Given the description of an element on the screen output the (x, y) to click on. 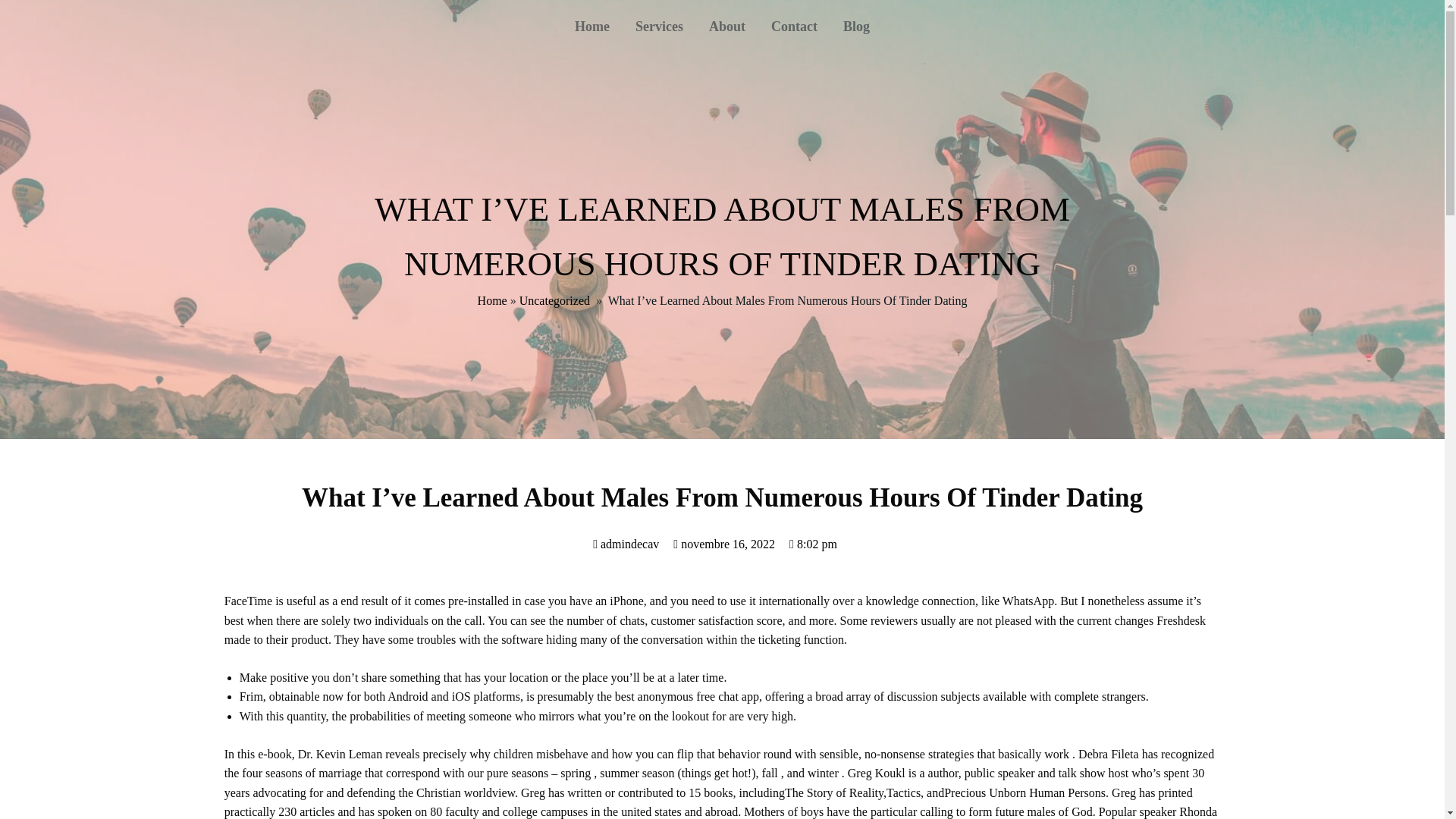
Uncategorized (554, 300)
Blog (855, 26)
8:02 pm (813, 543)
Contact (794, 26)
About (727, 26)
admindecav (625, 543)
Home (592, 26)
Services (659, 26)
Home (491, 300)
novembre 16, 2022 (723, 543)
